Given the description of an element on the screen output the (x, y) to click on. 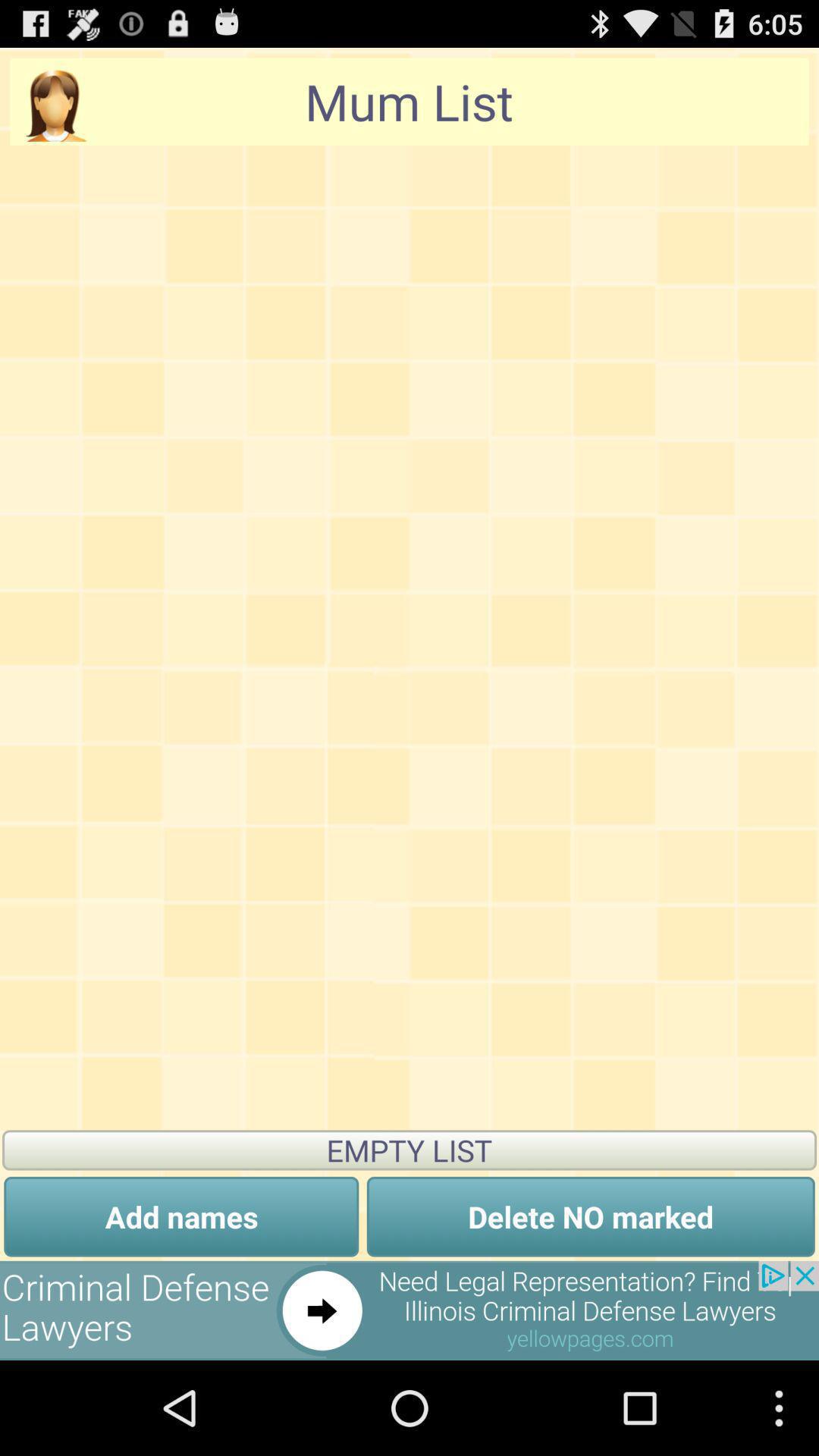
open an advertisements (409, 1310)
